Given the description of an element on the screen output the (x, y) to click on. 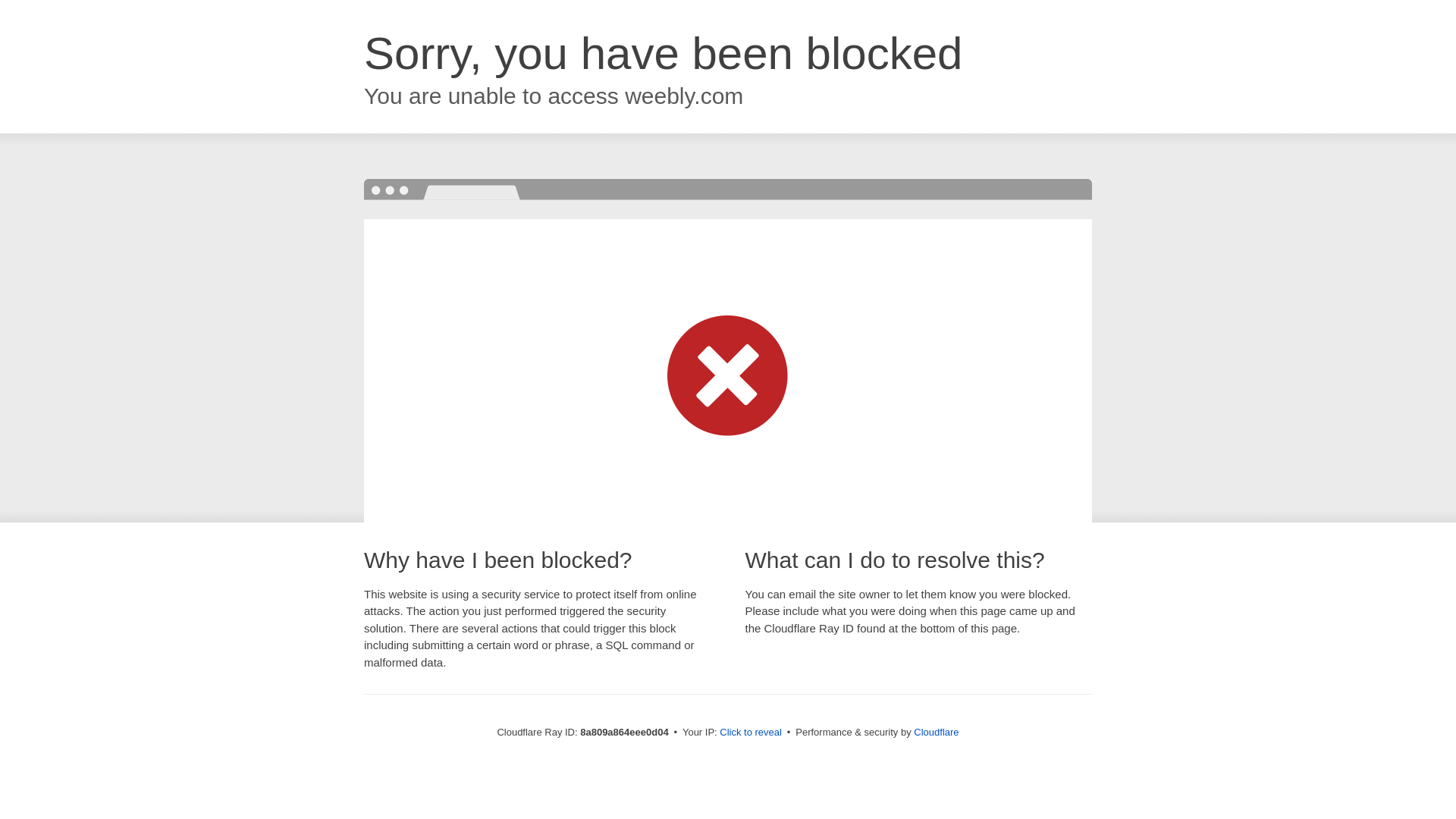
Cloudflare (936, 731)
Click to reveal (750, 732)
